Given the description of an element on the screen output the (x, y) to click on. 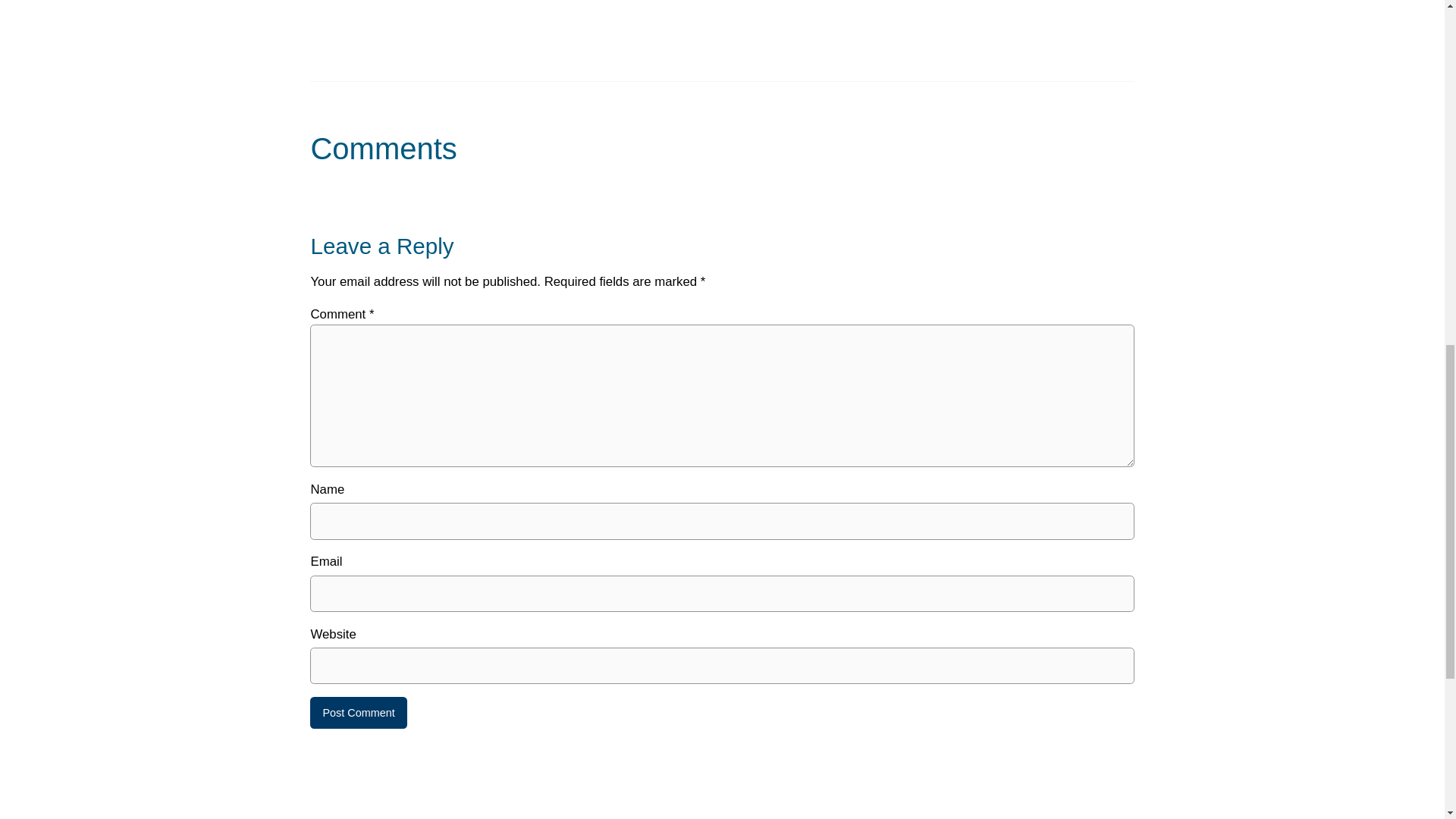
Post Comment (358, 712)
Post Comment (358, 712)
